Given the description of an element on the screen output the (x, y) to click on. 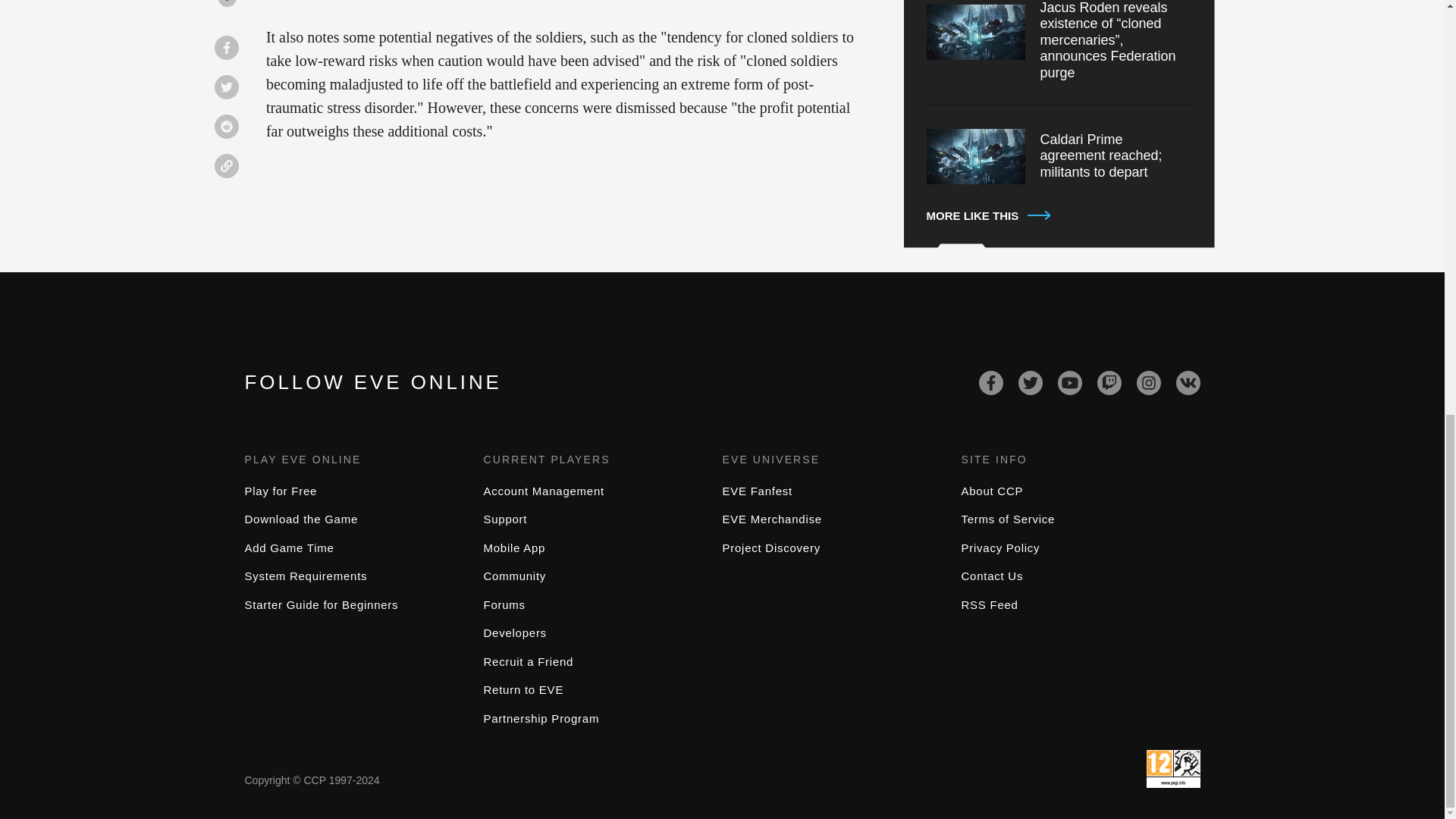
Mobile App (514, 547)
YouTube (1069, 382)
Twitch (1108, 382)
Visit the PEGI webpage (1173, 768)
Community (515, 575)
Instagram (1147, 382)
MORE LIKE THIS (1059, 216)
EVE Merchandise (771, 518)
Facebook (990, 382)
Developers (515, 632)
Starter Guide for Beginners (320, 604)
Recruit a Friend (528, 661)
Play for Free (280, 490)
VK (1186, 382)
Return to EVE (523, 689)
